Given the description of an element on the screen output the (x, y) to click on. 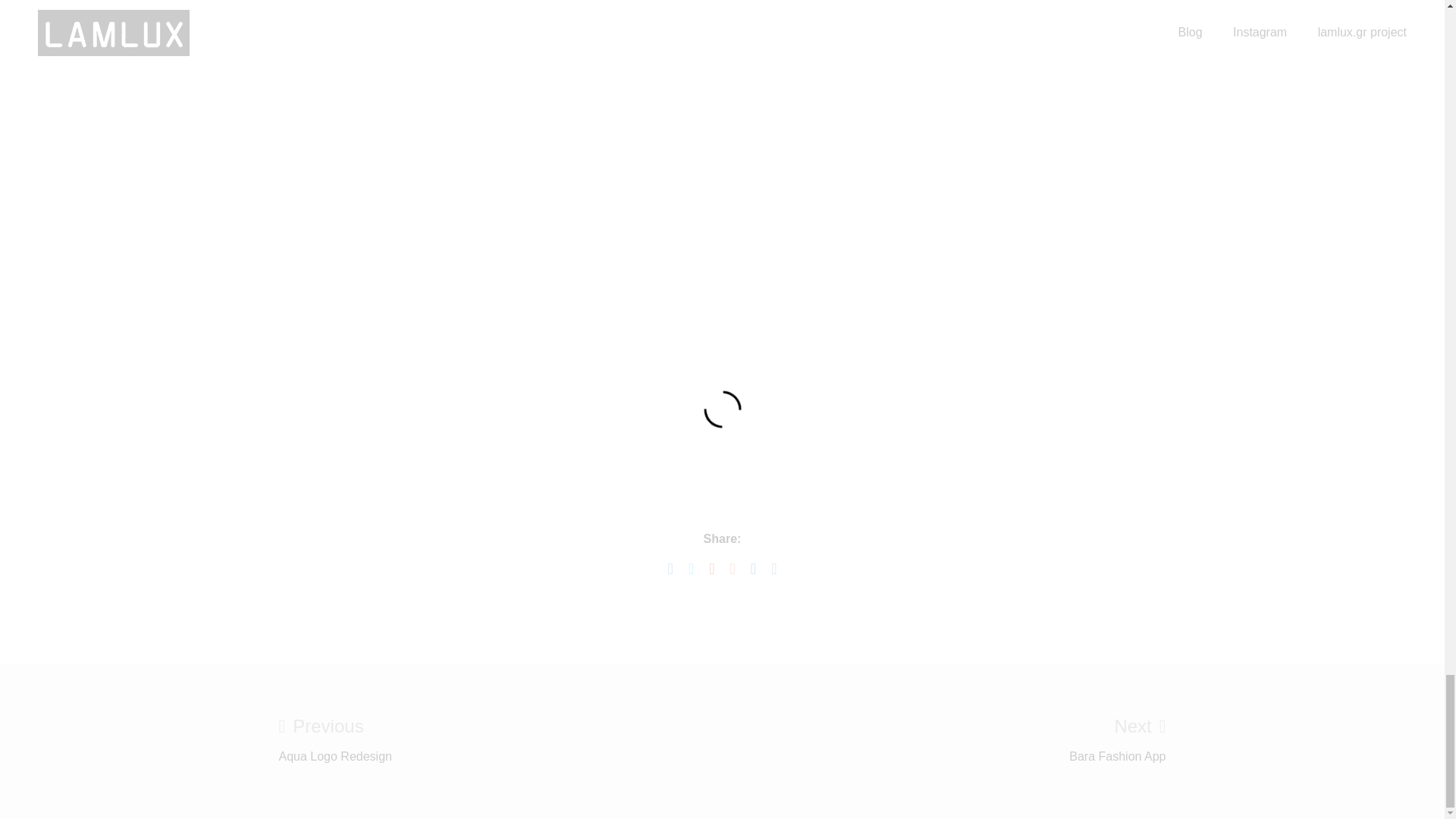
Golden Feather (335, 741)
